Given the description of an element on the screen output the (x, y) to click on. 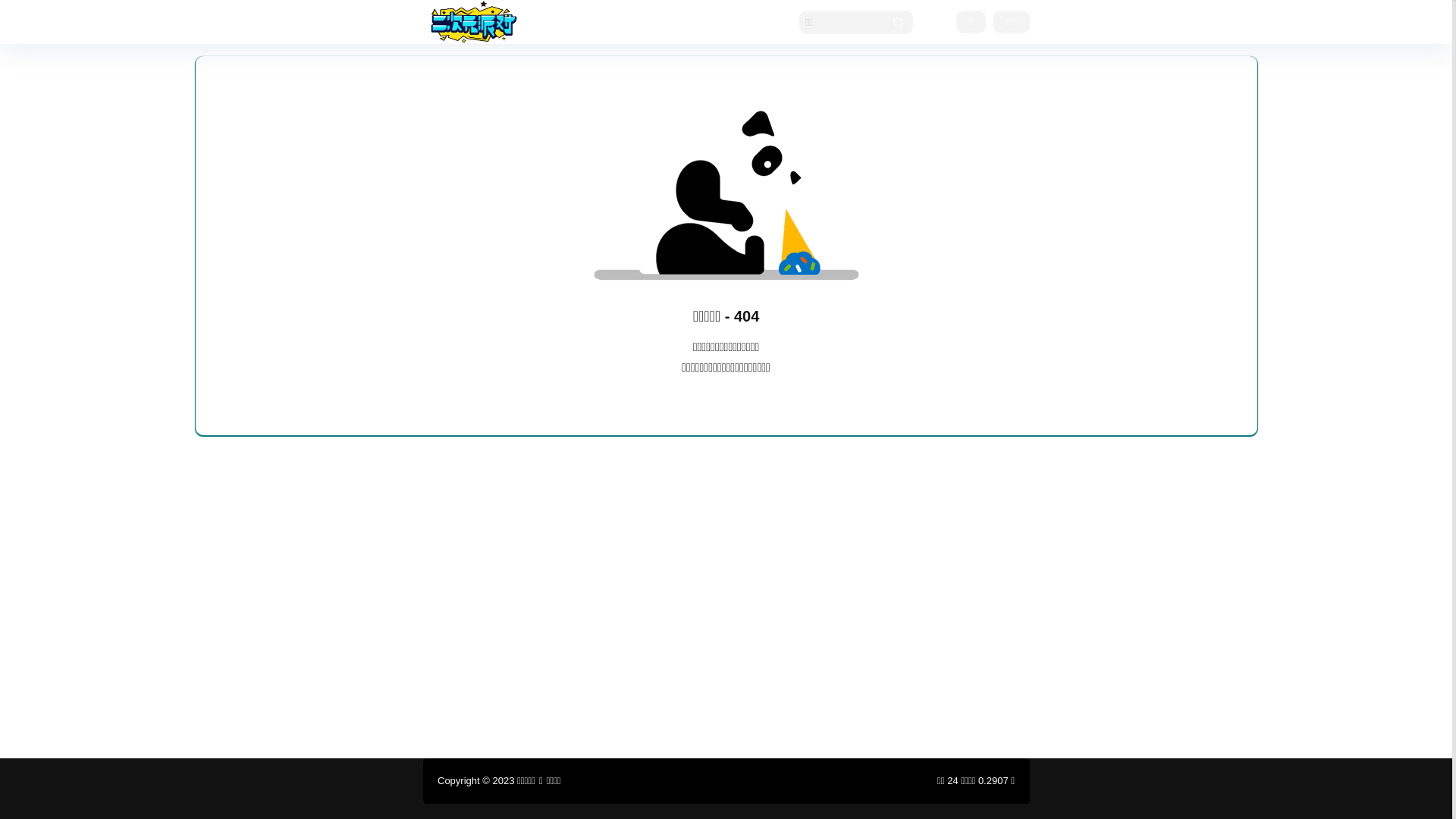
Cosplay Element type: text (622, 21)
ok Element type: text (10, 10)
